Given the description of an element on the screen output the (x, y) to click on. 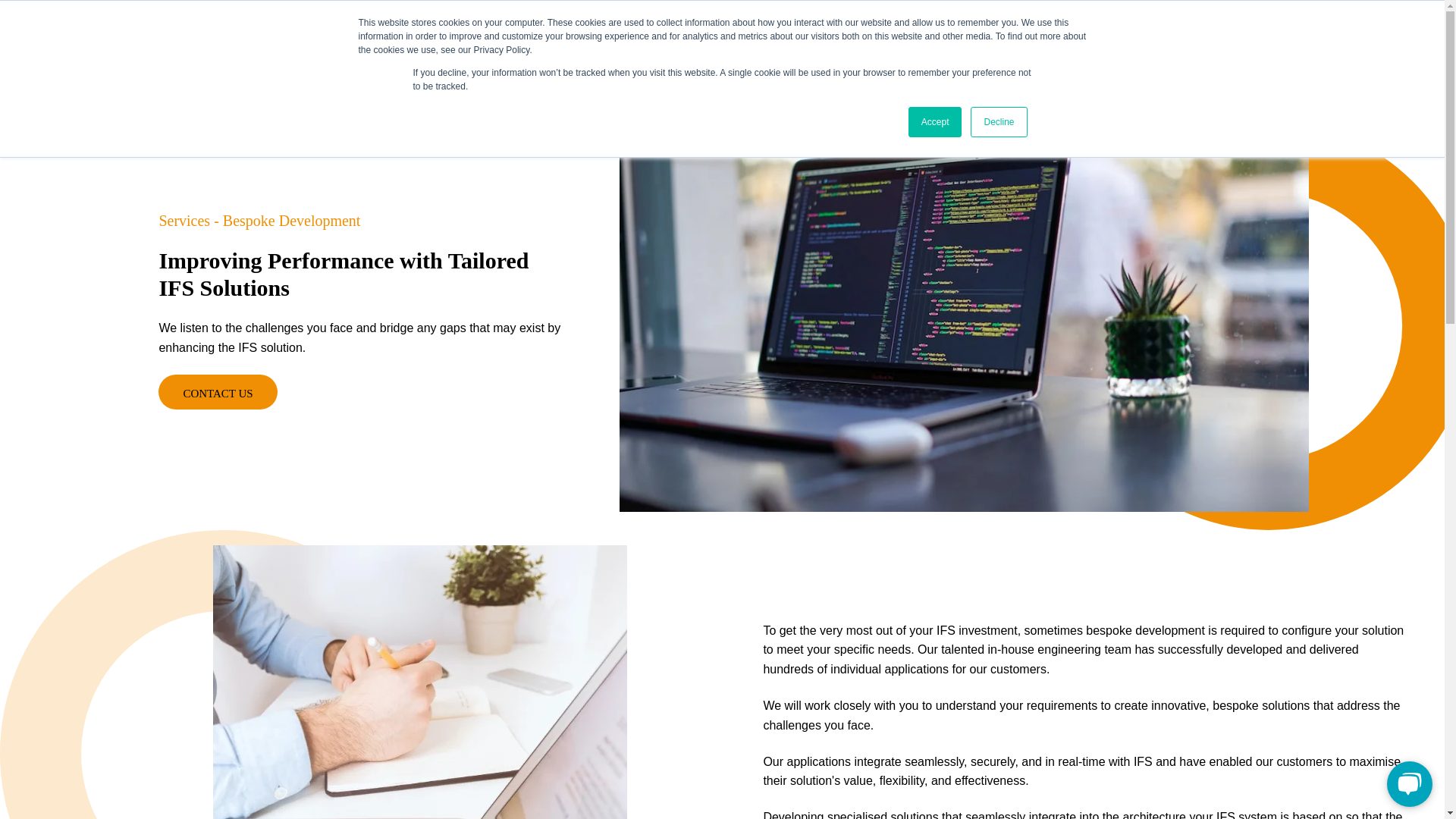
INDUSTRY (744, 53)
SHOW SUBMENU FOR INDUSTRY (781, 53)
Decline (998, 122)
ABOUT (1007, 53)
SHOW SUBMENU FOR NEWS (952, 53)
NEWS (928, 53)
Accept (935, 122)
SERVICES (842, 53)
Contact us (217, 392)
SHOW SUBMENU FOR SERVICES (877, 53)
CAREERS (1080, 53)
